Given the description of an element on the screen output the (x, y) to click on. 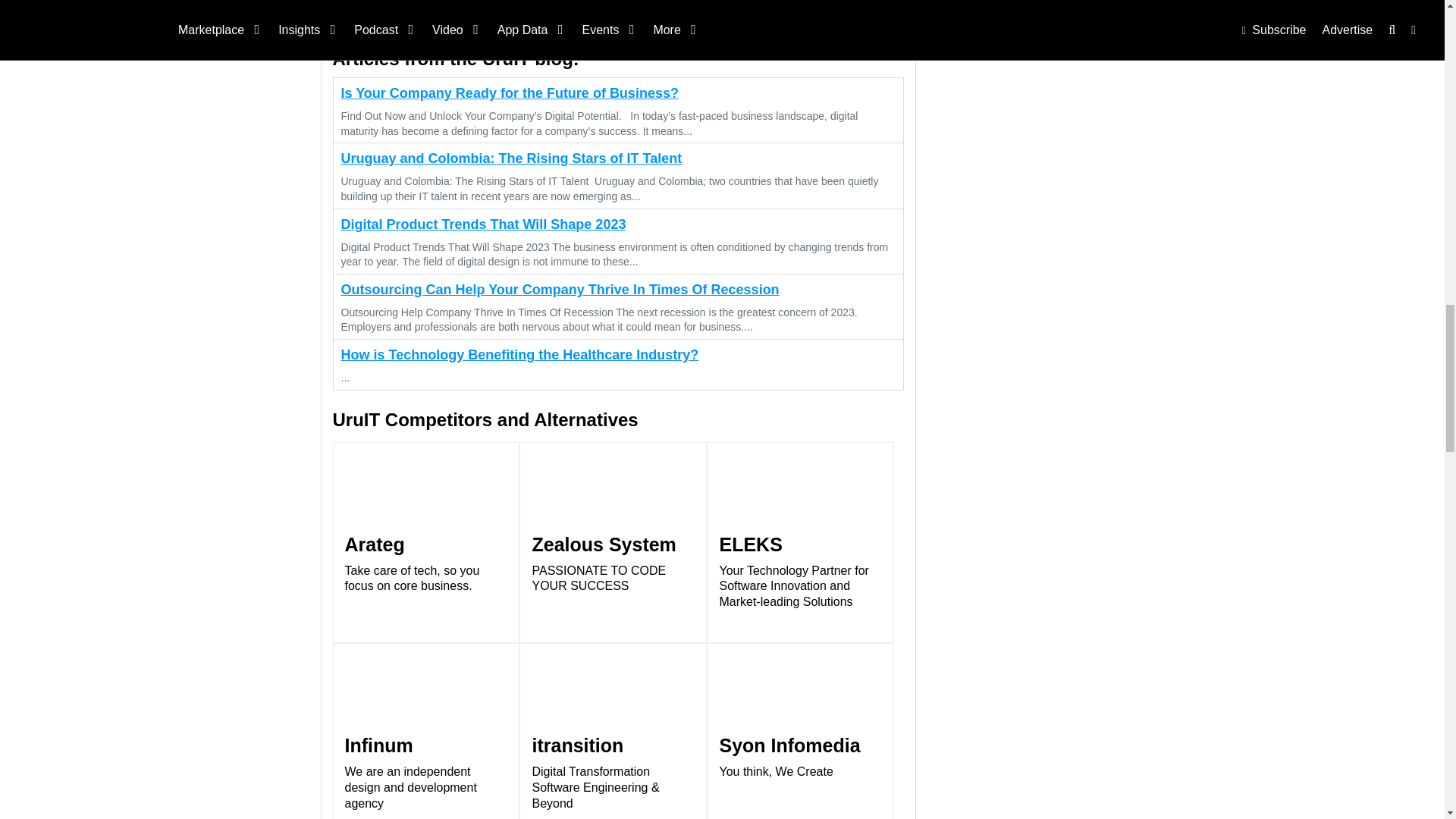
itransition (612, 730)
ELEKS (799, 542)
Infinum (425, 730)
Syon Infomedia (799, 730)
Arateg (425, 542)
Zealous System (612, 542)
